Given the description of an element on the screen output the (x, y) to click on. 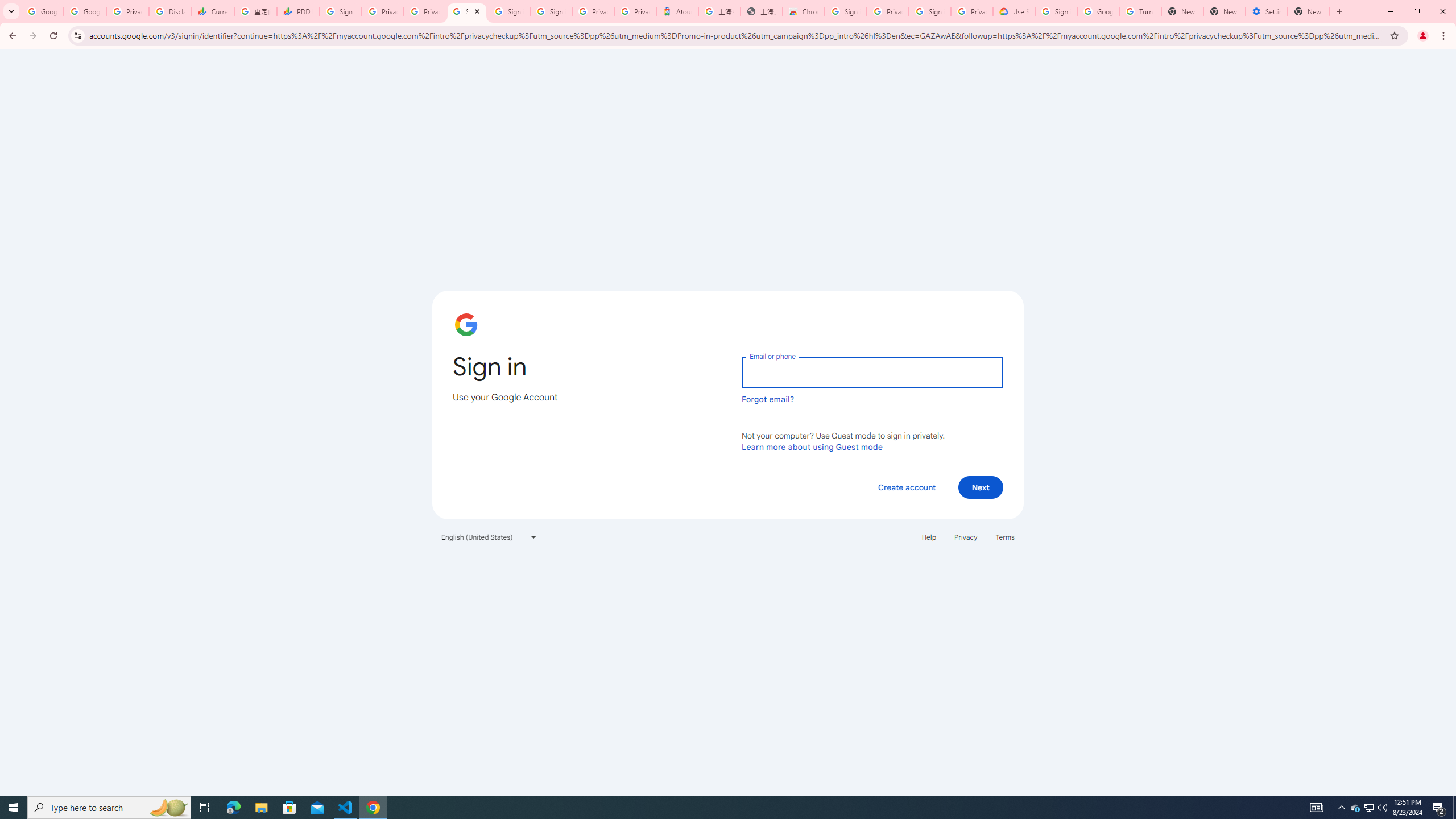
Forgot email? (767, 398)
Sign in - Google Accounts (509, 11)
Settings - System (1266, 11)
Learn more about using Guest mode (812, 446)
Next (980, 486)
PDD Holdings Inc - ADR (PDD) Price & News - Google Finance (298, 11)
